Given the description of an element on the screen output the (x, y) to click on. 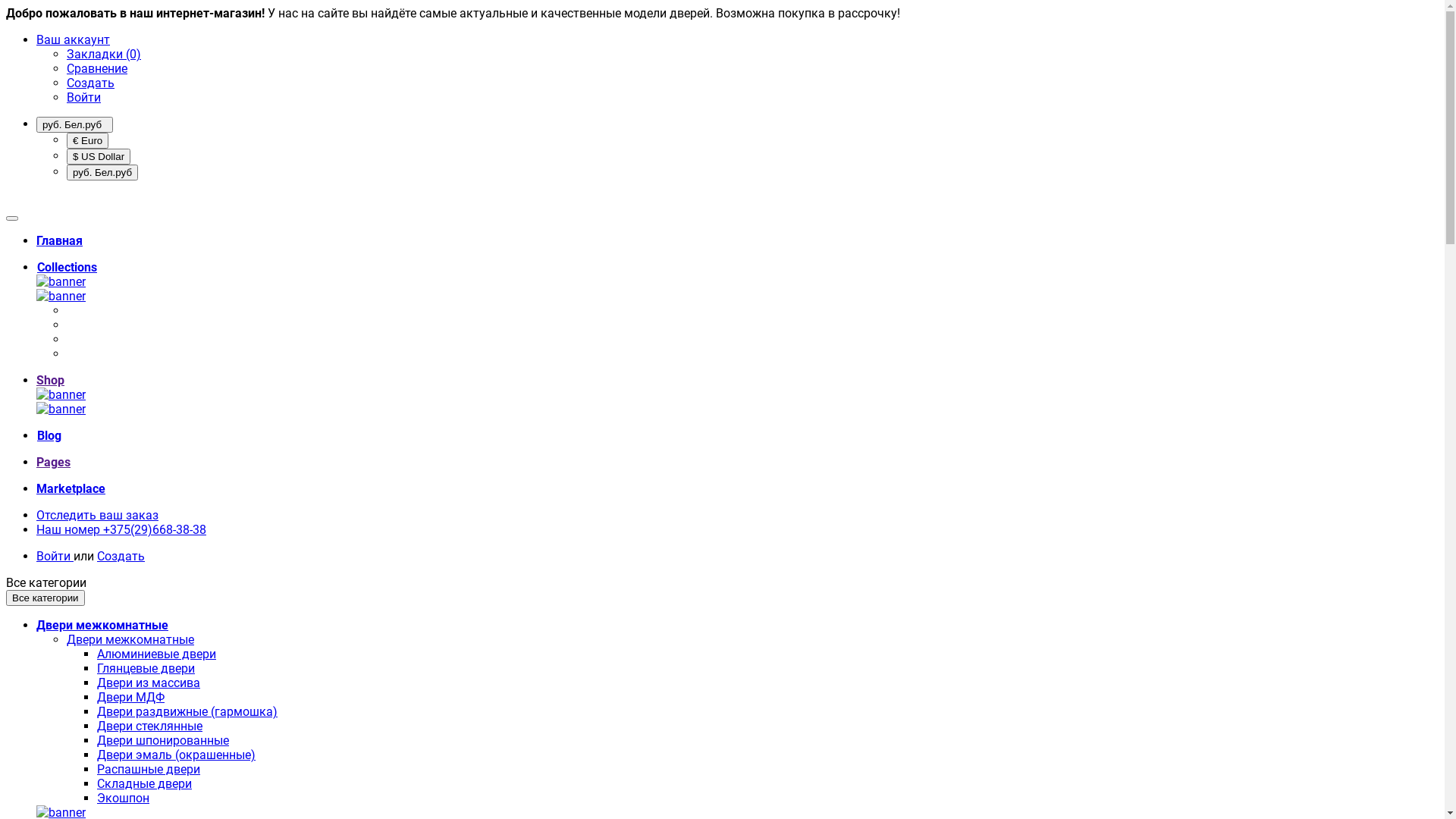
Marketplace Element type: text (70, 488)
Blog Element type: text (48, 435)
Collections Element type: text (66, 267)
Pages Element type: text (53, 462)
$ US Dollar Element type: text (98, 156)
Shop Element type: text (50, 380)
